Given the description of an element on the screen output the (x, y) to click on. 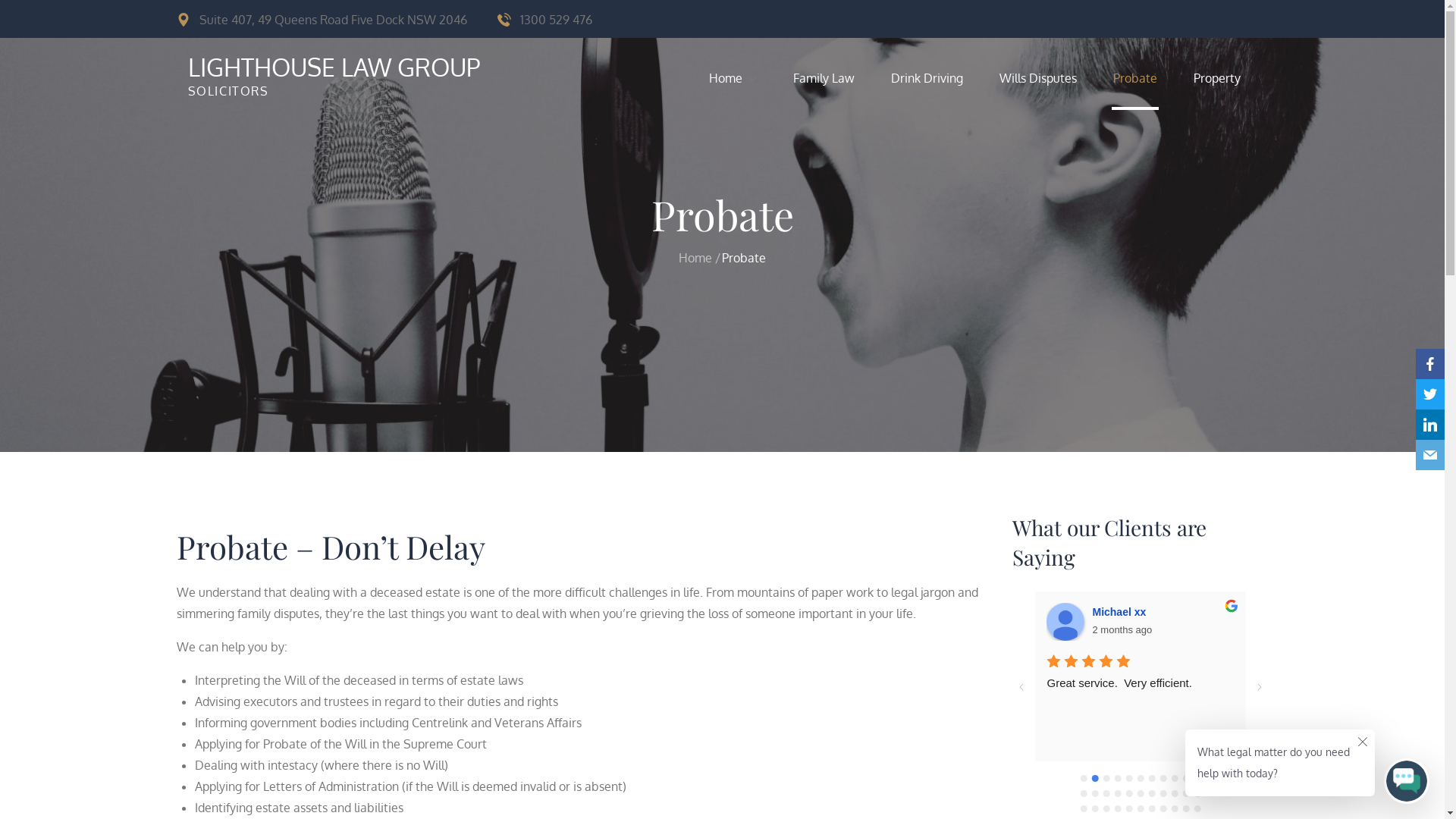
Michael xx Element type: hover (1065, 621)
Property Element type: text (1252, 18)
Drink Driving Element type: text (926, 77)
James Hasemer Element type: hover (840, 621)
Family Law Element type: text (1131, 18)
Wills Disputes Element type: text (1191, 18)
Home Element type: text (731, 77)
Probate Element type: text (1222, 18)
Property Element type: text (1216, 77)
Drink Driving Element type: text (1161, 18)
Debra Beck-Mewing Element type: hover (1291, 621)
Probate Element type: text (1134, 77)
Family Law Element type: text (823, 77)
Michael xx Element type: text (1346, 611)
LIGHTHOUSE LAW GROUP Element type: text (334, 66)
1300 529 476 Element type: text (544, 17)
Wills Disputes Element type: text (1037, 77)
Home Element type: text (1100, 18)
James Hasemer Element type: text (1134, 611)
Home Element type: text (695, 256)
